Given the description of an element on the screen output the (x, y) to click on. 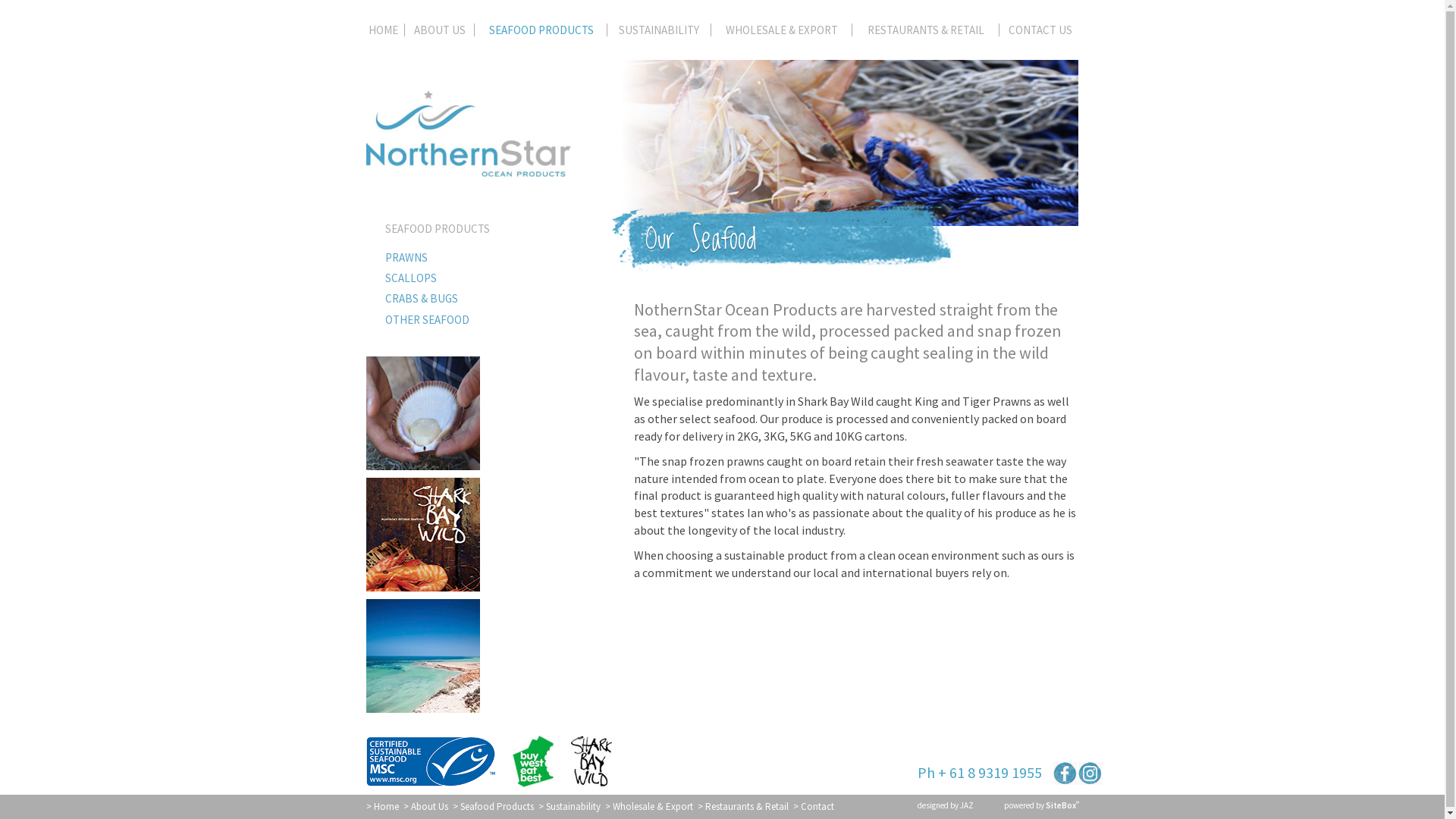
> Sustainability Element type: text (569, 806)
> Seafood Products Element type: text (492, 806)
> Contact Element type: text (813, 806)
CRABS & BUGS Element type: text (476, 298)
  Element type: text (1089, 773)
> About Us Element type: text (425, 806)
> Home Element type: text (381, 806)
SCALLOPS Element type: text (476, 277)
WHOLESALE
& EXPORT Element type: text (781, 33)
designed by JAZ Element type: text (945, 805)
SEAFOOD
PRODUCTS Element type: text (540, 33)
Northern Star Seafood Banner Element type: hover (845, 142)
PRAWNS Element type: text (476, 257)
> Wholesale & Export Element type: text (649, 806)
CONTACT US Element type: text (1039, 33)
SUSTAINABILITY Element type: text (659, 33)
RESTAURANTS
& RETAIL Element type: text (925, 33)
> Restaurants & Retail Element type: text (742, 806)
ABOUT US Element type: text (439, 33)
HOME Element type: text (384, 33)
OTHER SEAFOOD Element type: text (476, 319)
  Element type: text (1064, 773)
